Given the description of an element on the screen output the (x, y) to click on. 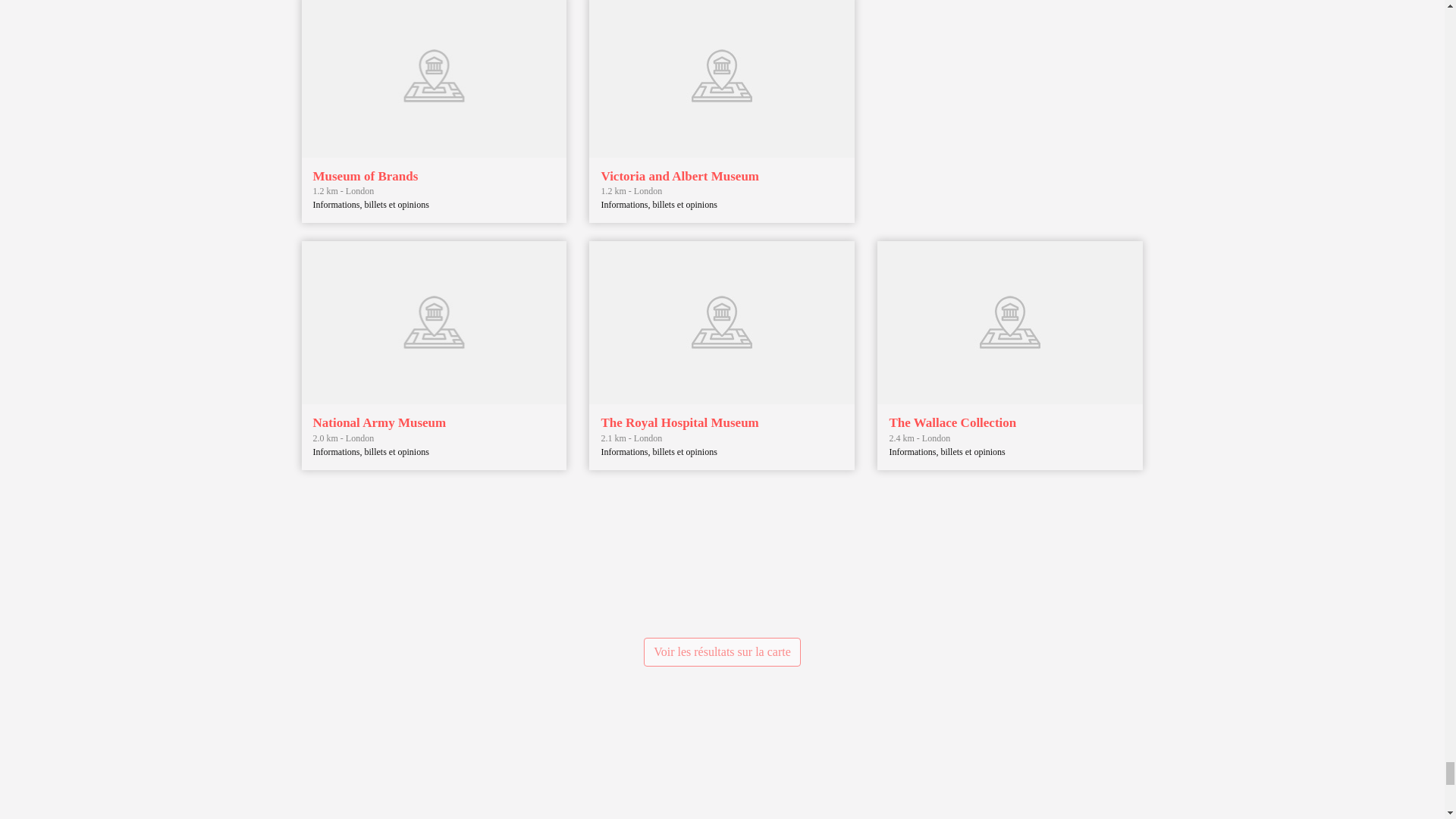
Museum of Brands (365, 175)
The Wallace Collection (952, 422)
The Royal Hospital Museum (678, 422)
Victoria and Albert Museum (678, 175)
National Army Museum (379, 422)
